Given the description of an element on the screen output the (x, y) to click on. 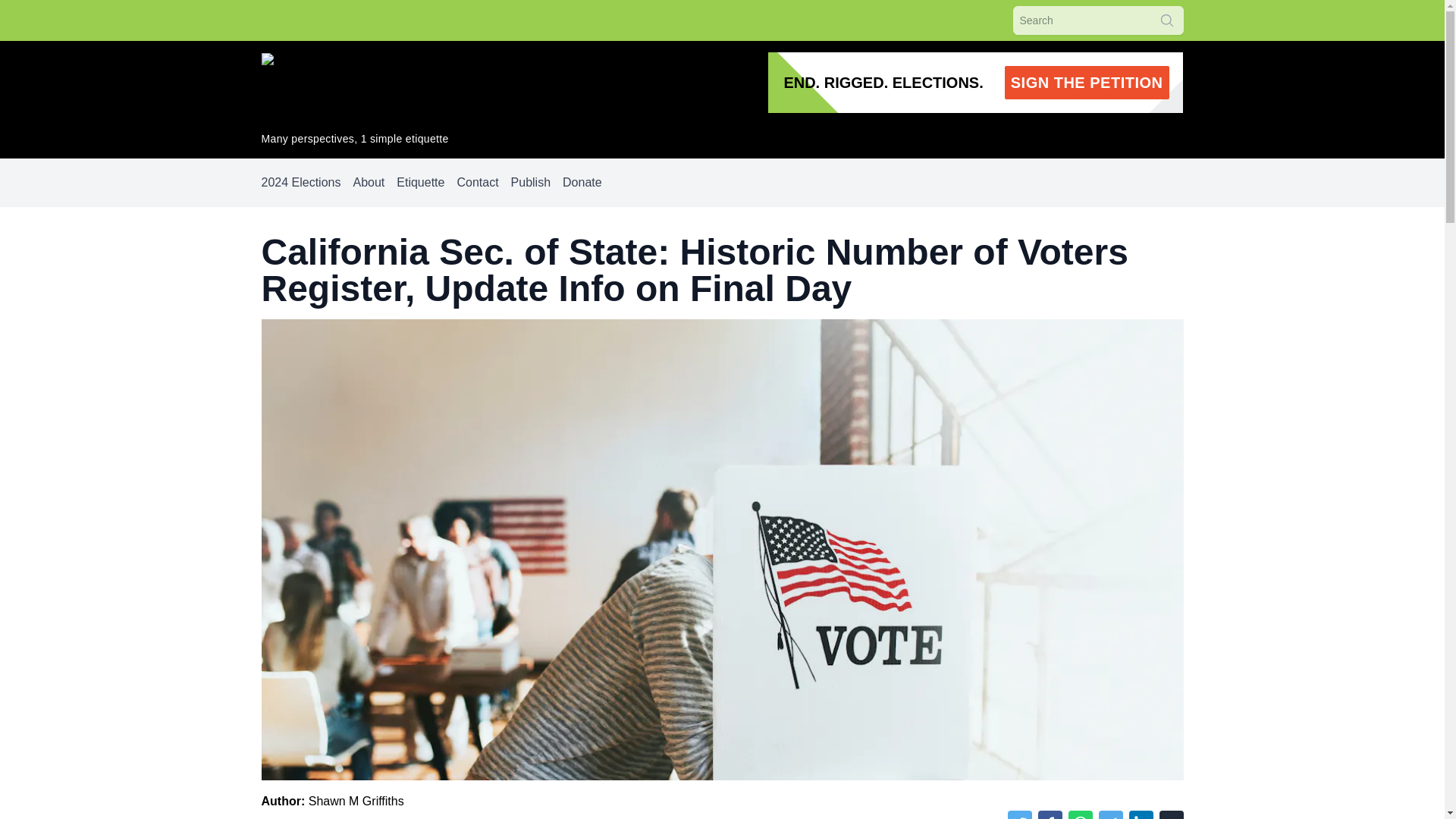
Shawn M Griffiths (975, 82)
2024 Elections (356, 800)
Contact (300, 182)
Publish (477, 182)
Etiquette (530, 182)
Donate (420, 182)
About (582, 182)
